Given the description of an element on the screen output the (x, y) to click on. 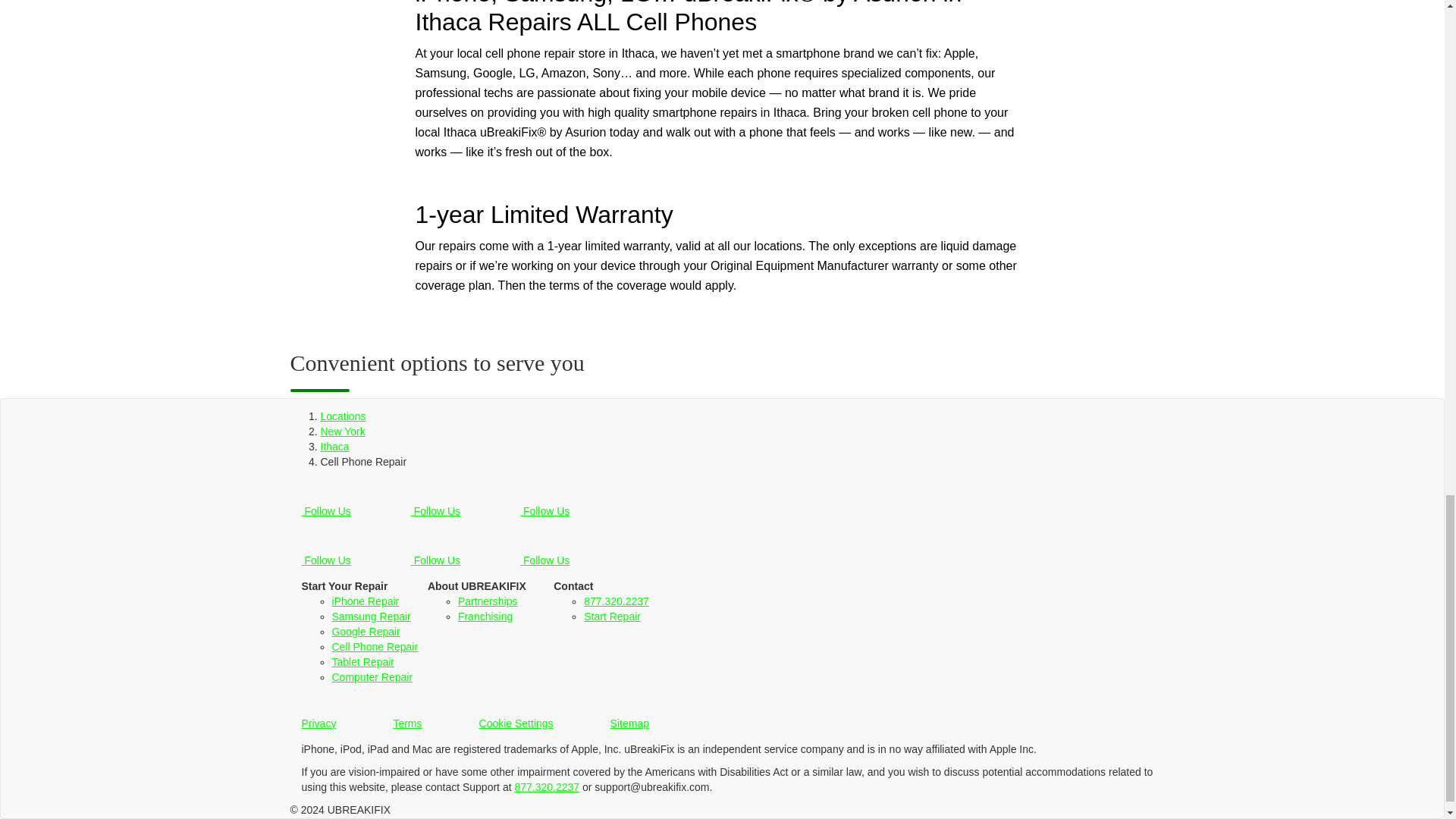
Locations (342, 416)
Ithaca (334, 446)
New York (342, 431)
